Given the description of an element on the screen output the (x, y) to click on. 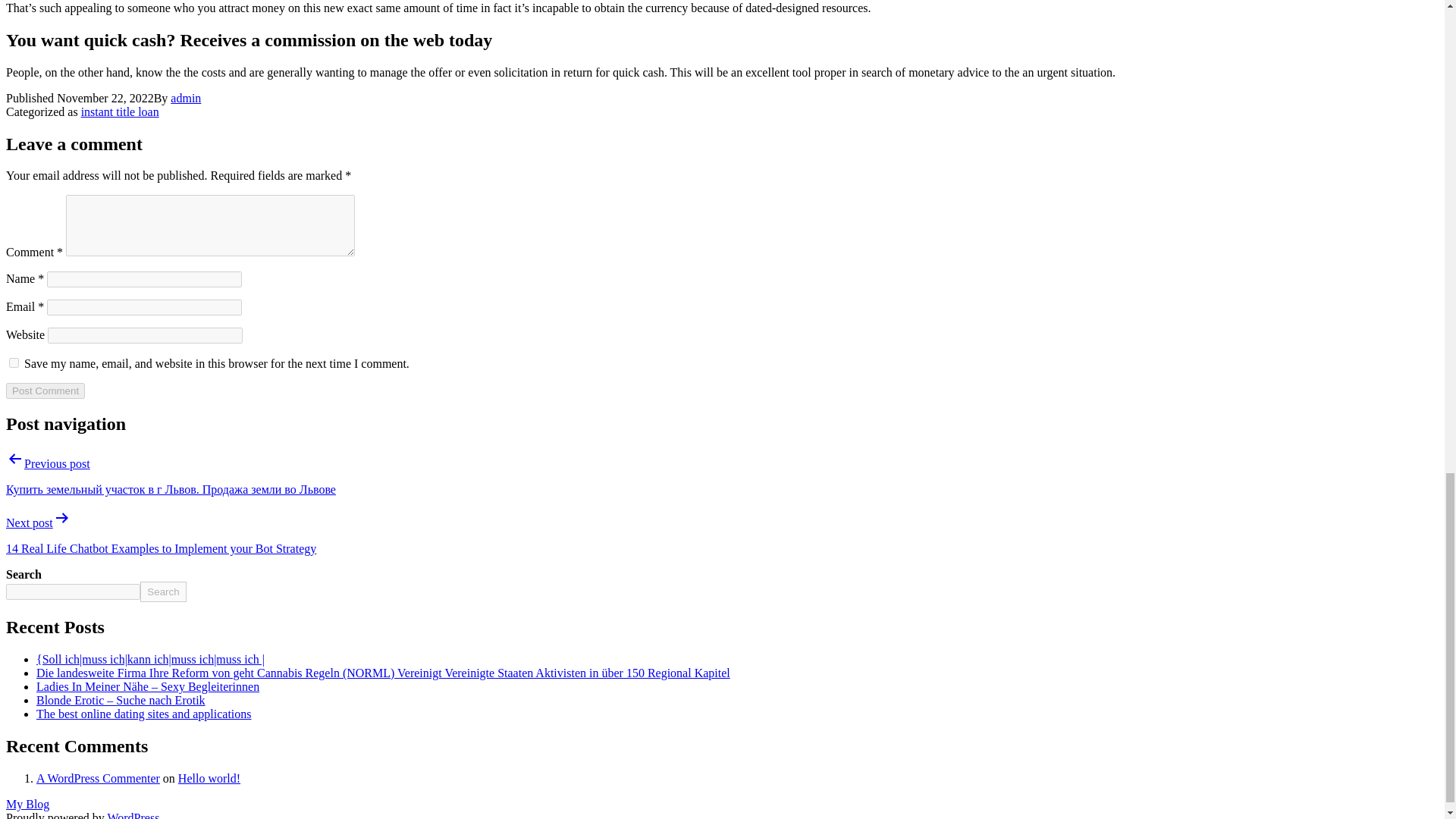
Hello world! (208, 778)
admin (185, 97)
Search (162, 591)
Post Comment (44, 390)
My Blog (27, 803)
The best online dating sites and applications (143, 713)
Post Comment (44, 390)
A WordPress Commenter (98, 778)
yes (13, 362)
instant title loan (119, 111)
